Given the description of an element on the screen output the (x, y) to click on. 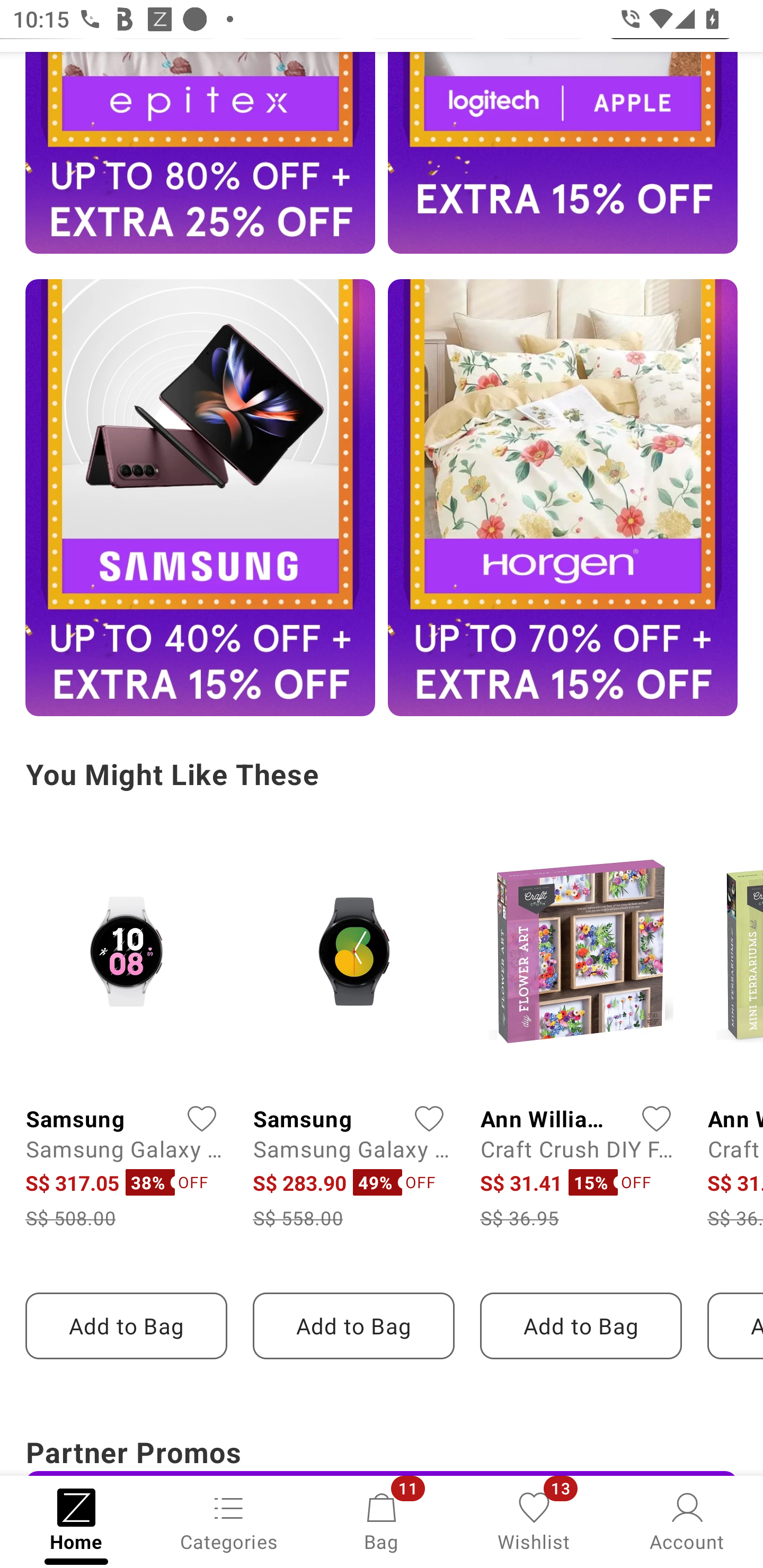
Campaign banner (200, 152)
Campaign banner (562, 152)
Campaign banner (200, 497)
Campaign banner (562, 497)
Add to Bag (126, 1325)
Add to Bag (353, 1325)
Add to Bag (580, 1325)
Partner Promos Campaign banner (381, 1451)
Categories (228, 1519)
Bag, 11 new notifications Bag (381, 1519)
Wishlist, 13 new notifications Wishlist (533, 1519)
Account (686, 1519)
